Given the description of an element on the screen output the (x, y) to click on. 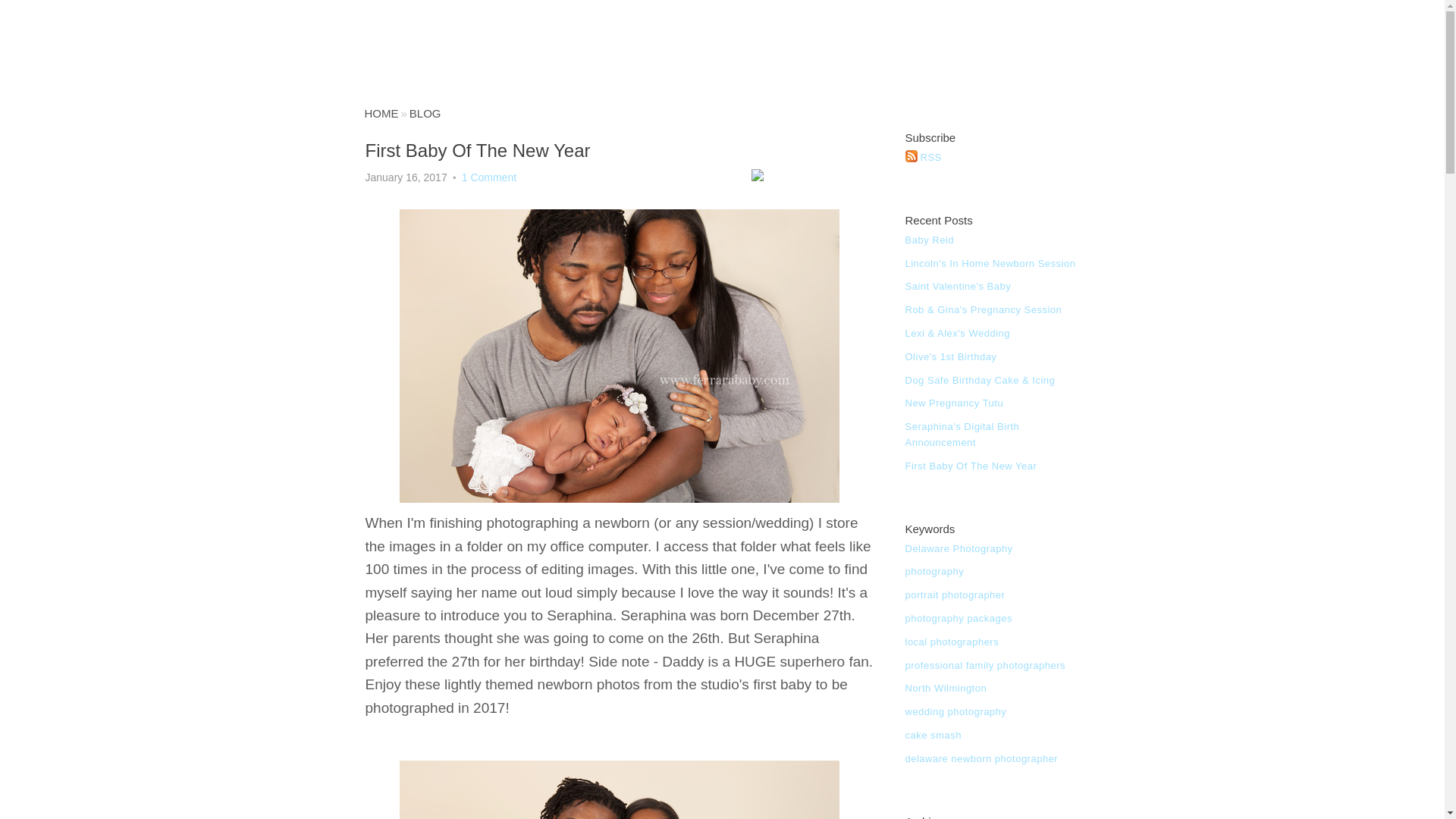
HOME (380, 113)
1 Comment (488, 177)
BLOG (425, 113)
